Given the description of an element on the screen output the (x, y) to click on. 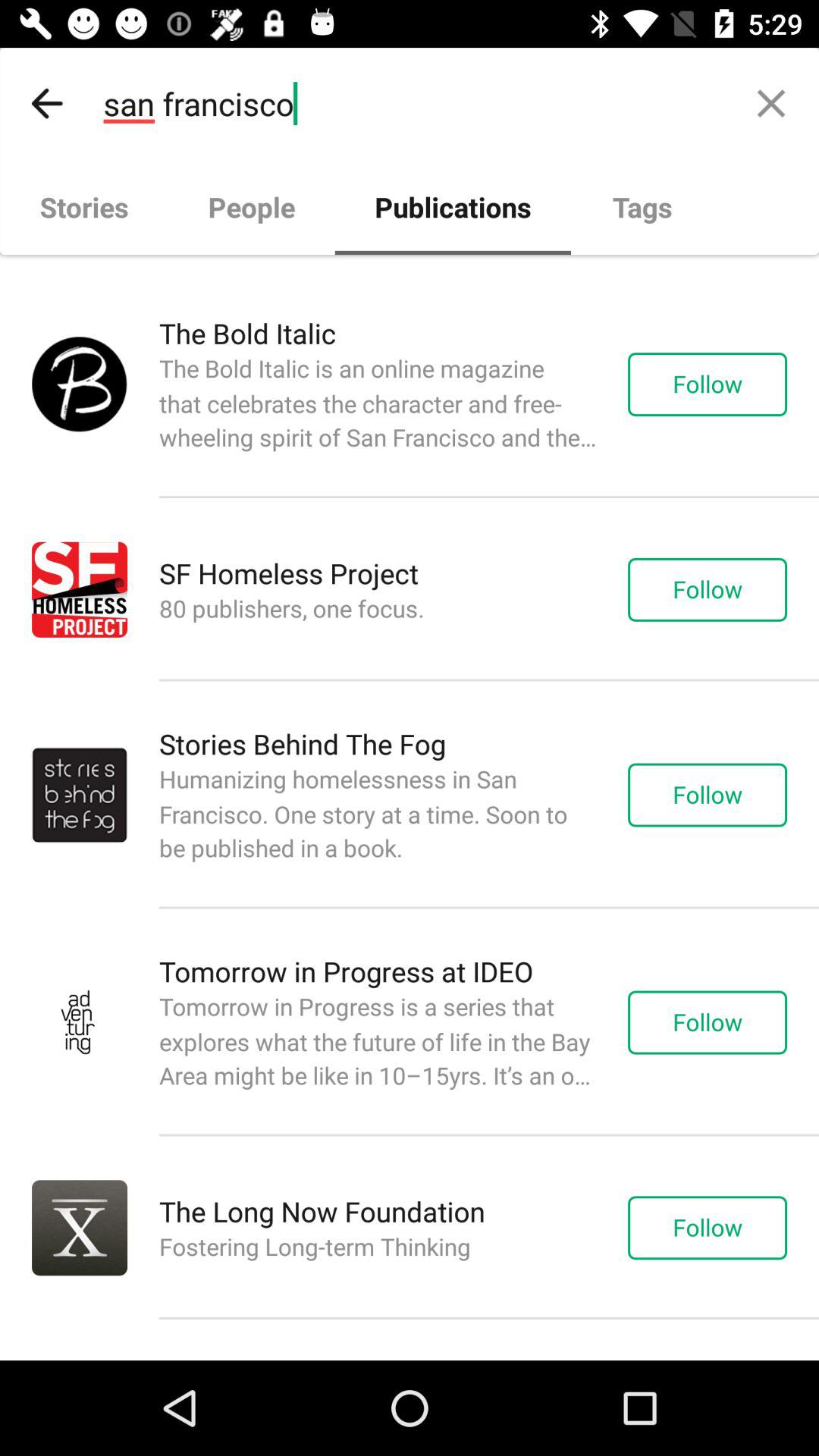
click the text right to tomorrow in progress at ideo (723, 1022)
click on the first follow button at the right side of the page (723, 384)
click on the mini image left next to stories behind the fog (79, 795)
